Given the description of an element on the screen output the (x, y) to click on. 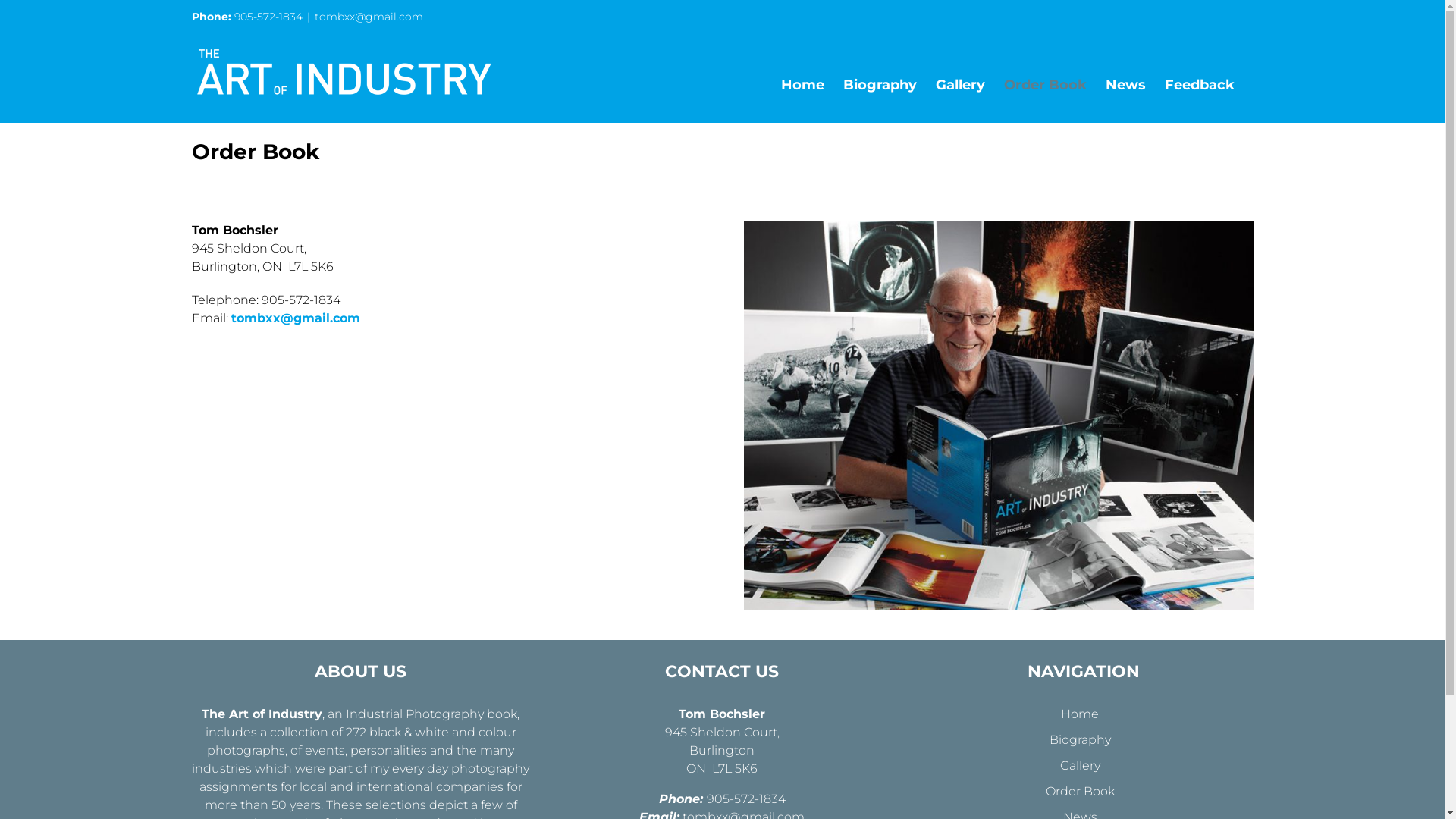
Gallery Element type: text (960, 84)
tombxx@gmail.com Element type: text (367, 16)
Home Element type: text (802, 84)
Biography Element type: text (879, 84)
Order Book Element type: text (1079, 791)
Feedback Element type: text (1199, 84)
Gallery Element type: text (1079, 765)
Order Book Element type: text (1045, 84)
Biography Element type: text (1079, 740)
Home Element type: text (1079, 714)
tombxx@gmail.com Element type: text (294, 317)
News Element type: text (1125, 84)
Tom-Bochsler-hiRes2 Element type: hover (997, 415)
